Given the description of an element on the screen output the (x, y) to click on. 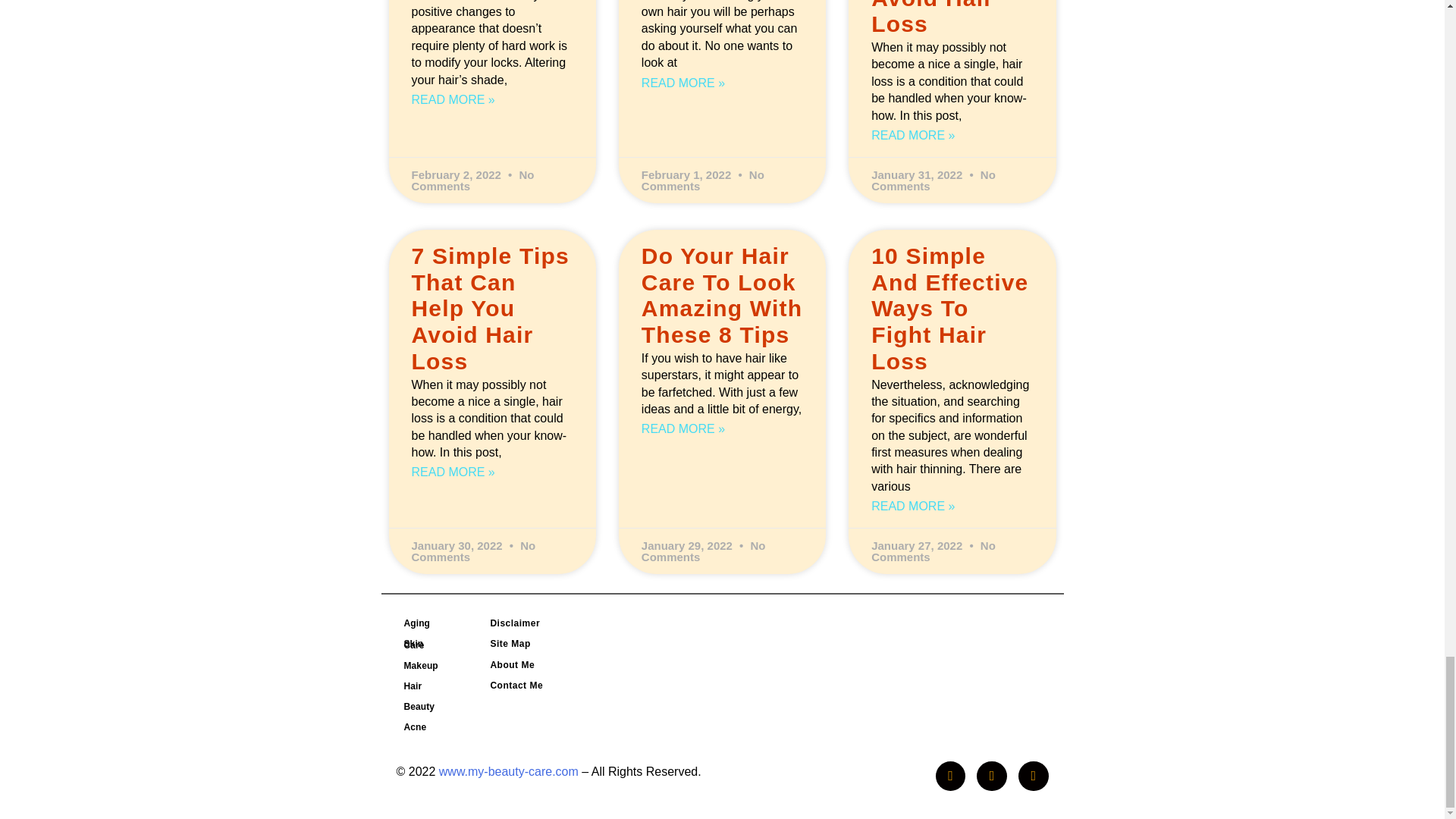
8 Simple Tips That Can Help You Avoid Hair Loss (949, 18)
